Given the description of an element on the screen output the (x, y) to click on. 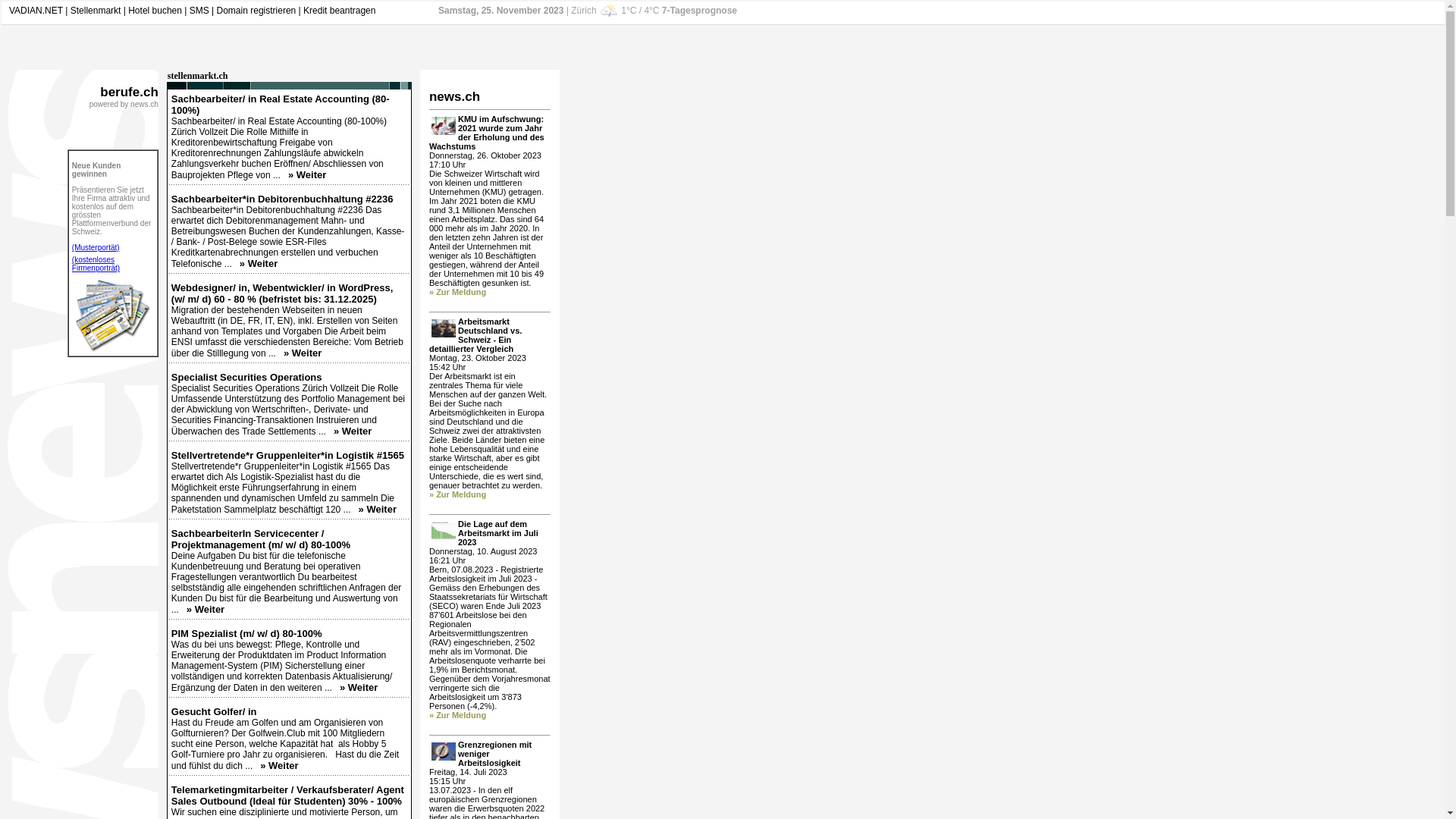
VADIAN.NET Element type: text (35, 10)
Gesucht Golfer/ in Element type: text (214, 711)
Die Lage auf dem Arbeitsmarkt im Juli 2023 Element type: text (498, 532)
Stellvertretende*r Gruppenleiter*in Logistik #1565 Element type: text (287, 455)
stellenmarkt.ch Element type: text (197, 75)
Advertisement Element type: hover (627, 296)
Domain registrieren Element type: text (256, 10)
Sachbearbeiter*in Debitorenbuchhaltung #2236 Element type: text (282, 198)
news.ch Element type: text (454, 96)
powered by news.ch Element type: text (123, 104)
PIM Spezialist (m/ w/ d) 80-100% Element type: text (246, 633)
Hotel buchen Element type: text (155, 10)
7-Tagesprognose Element type: text (699, 10)
Kredit beantragen Element type: text (339, 10)
Stellenmarkt Element type: text (95, 10)
SMS Element type: text (199, 10)
Sachbearbeiter/ in Real Estate Accounting (80-100%) Element type: text (280, 104)
Specialist Securities Operations Element type: text (246, 376)
Grenzregionen mit weniger Arbeitslosigkeit Element type: text (494, 753)
